Given the description of an element on the screen output the (x, y) to click on. 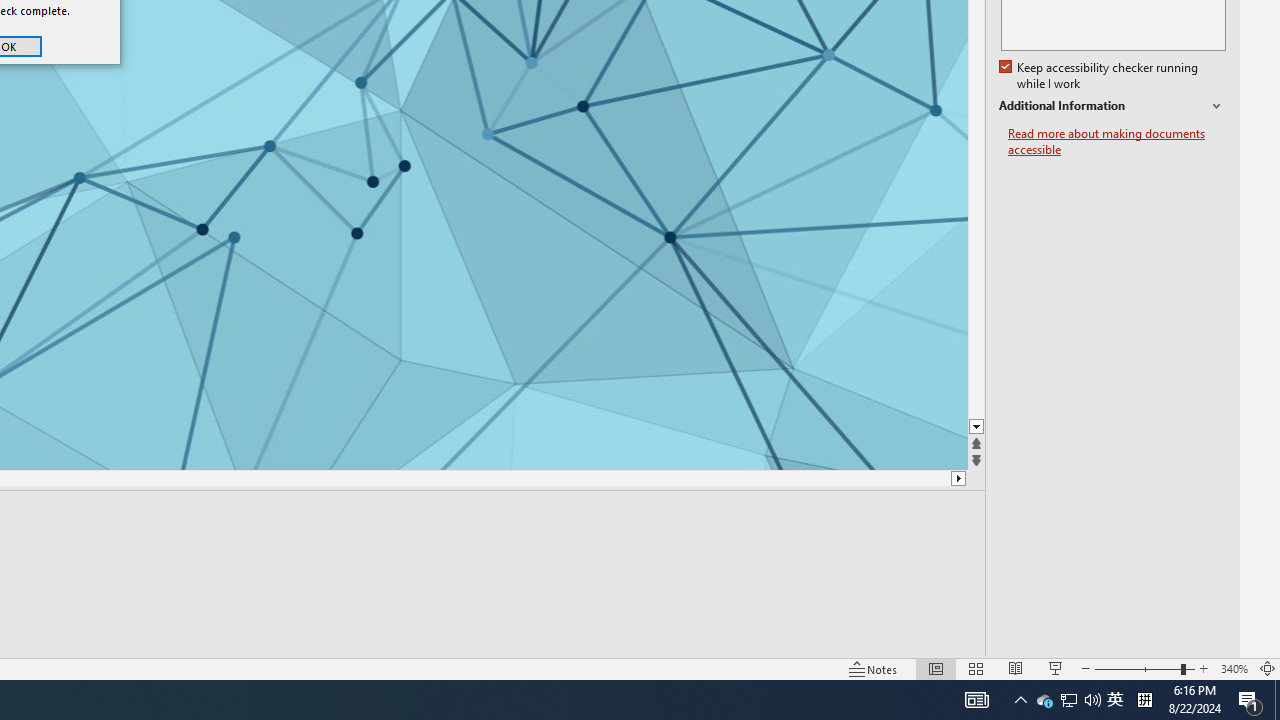
User Promoted Notification Area (1068, 699)
Additional Information (1112, 106)
Line down (976, 427)
Q2790: 100% (1092, 699)
AutomationID: 4105 (1069, 699)
Notification Chevron (976, 699)
